Given the description of an element on the screen output the (x, y) to click on. 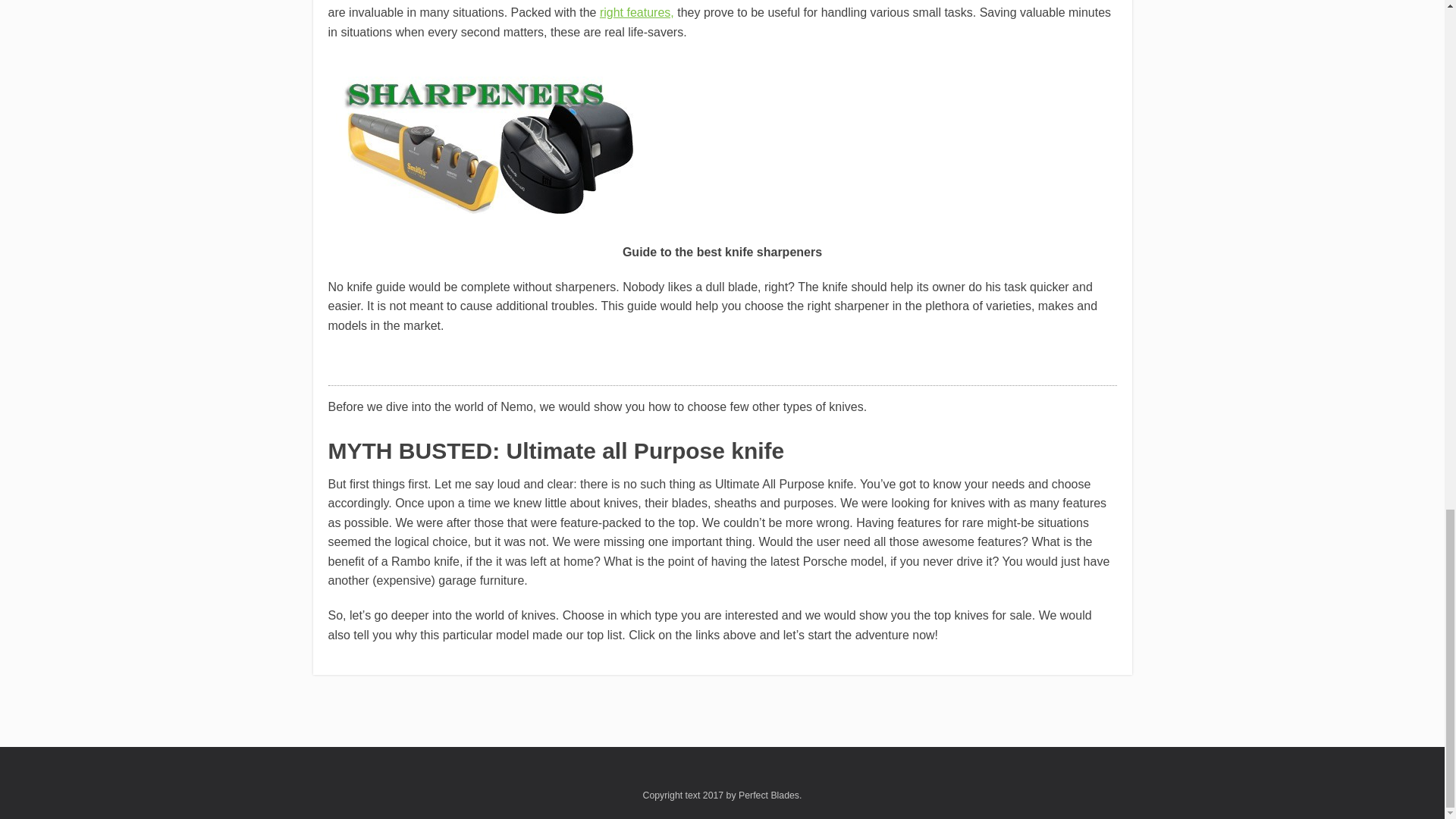
right features, (636, 11)
